Given the description of an element on the screen output the (x, y) to click on. 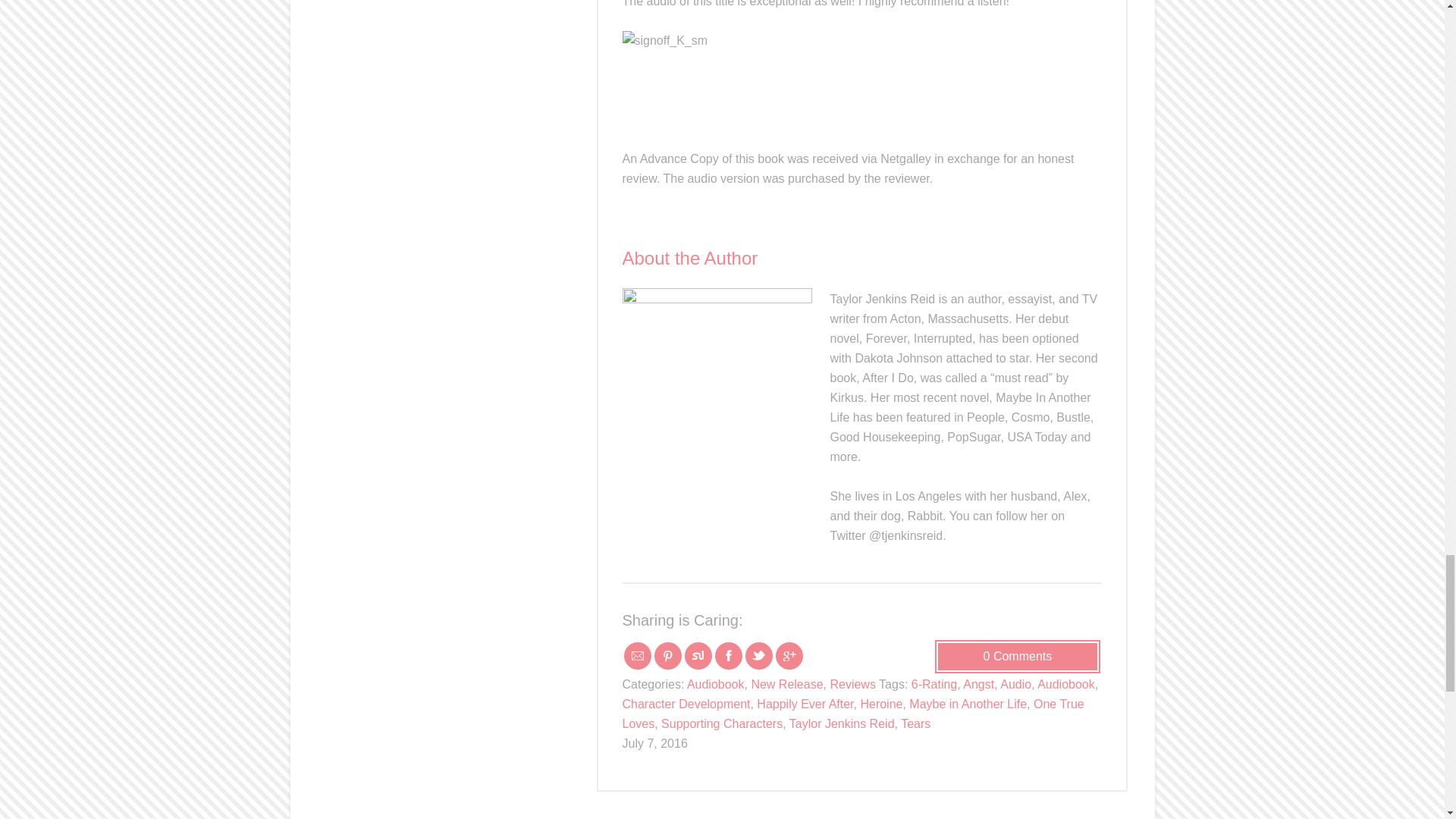
Character Development (685, 703)
6-Rating (933, 684)
Angst (978, 684)
StumbleUpon (697, 655)
Facebook (727, 655)
Audiobook (1065, 684)
Audio (1015, 684)
Twitter (758, 655)
New Release (786, 684)
Audiobook (715, 684)
